Given the description of an element on the screen output the (x, y) to click on. 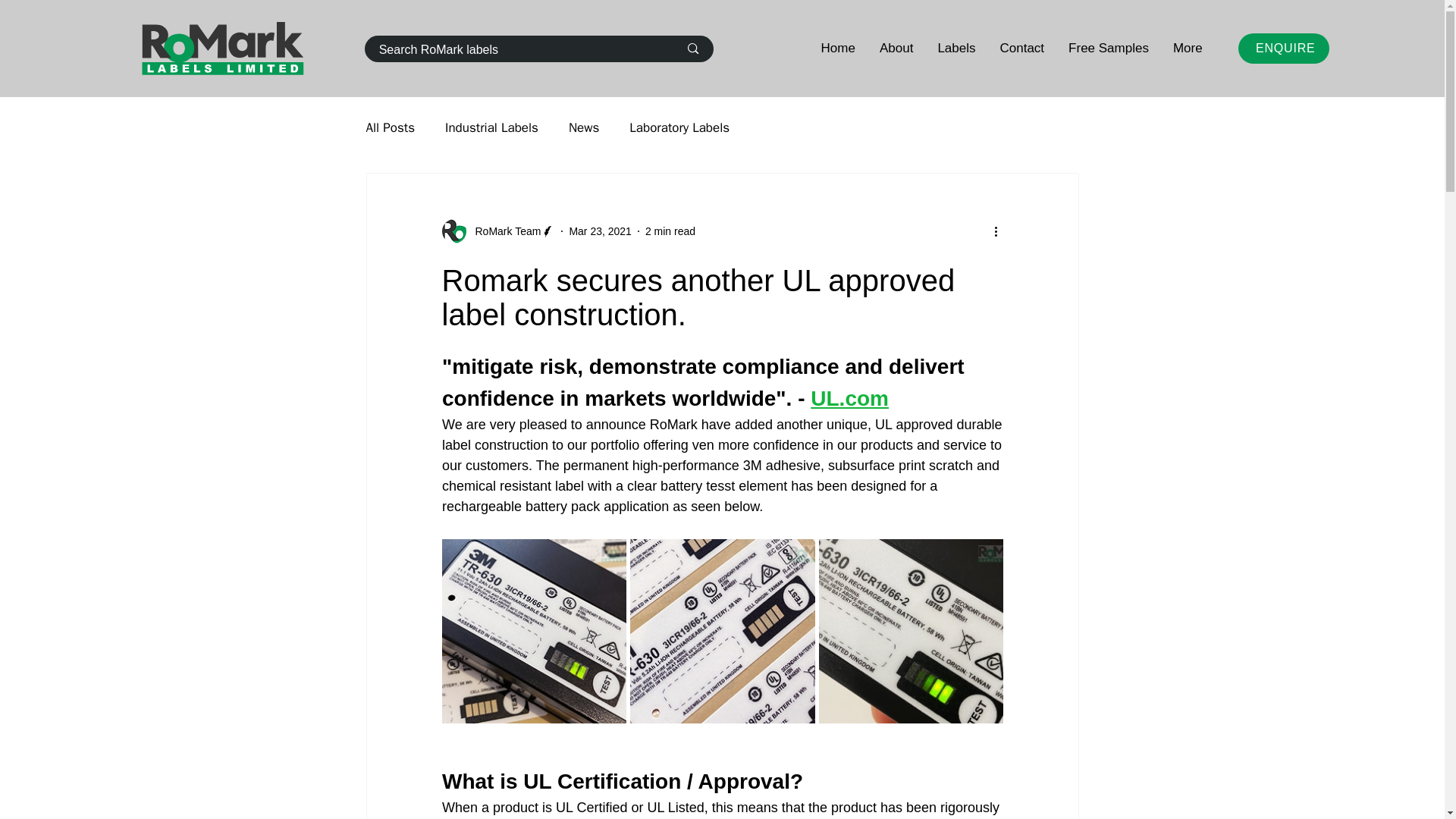
News (583, 127)
Contact (1020, 48)
ENQUIRE (1284, 48)
Home (838, 48)
All Posts (389, 127)
About (895, 48)
ENQUIRE (1348, 194)
Laboratory Labels (678, 127)
UL.com (849, 398)
2 min read (670, 231)
RoMark Team (502, 231)
SAMPLES (1348, 228)
Free Samples (1108, 48)
Industrial Labels (491, 127)
Mar 23, 2021 (600, 231)
